Given the description of an element on the screen output the (x, y) to click on. 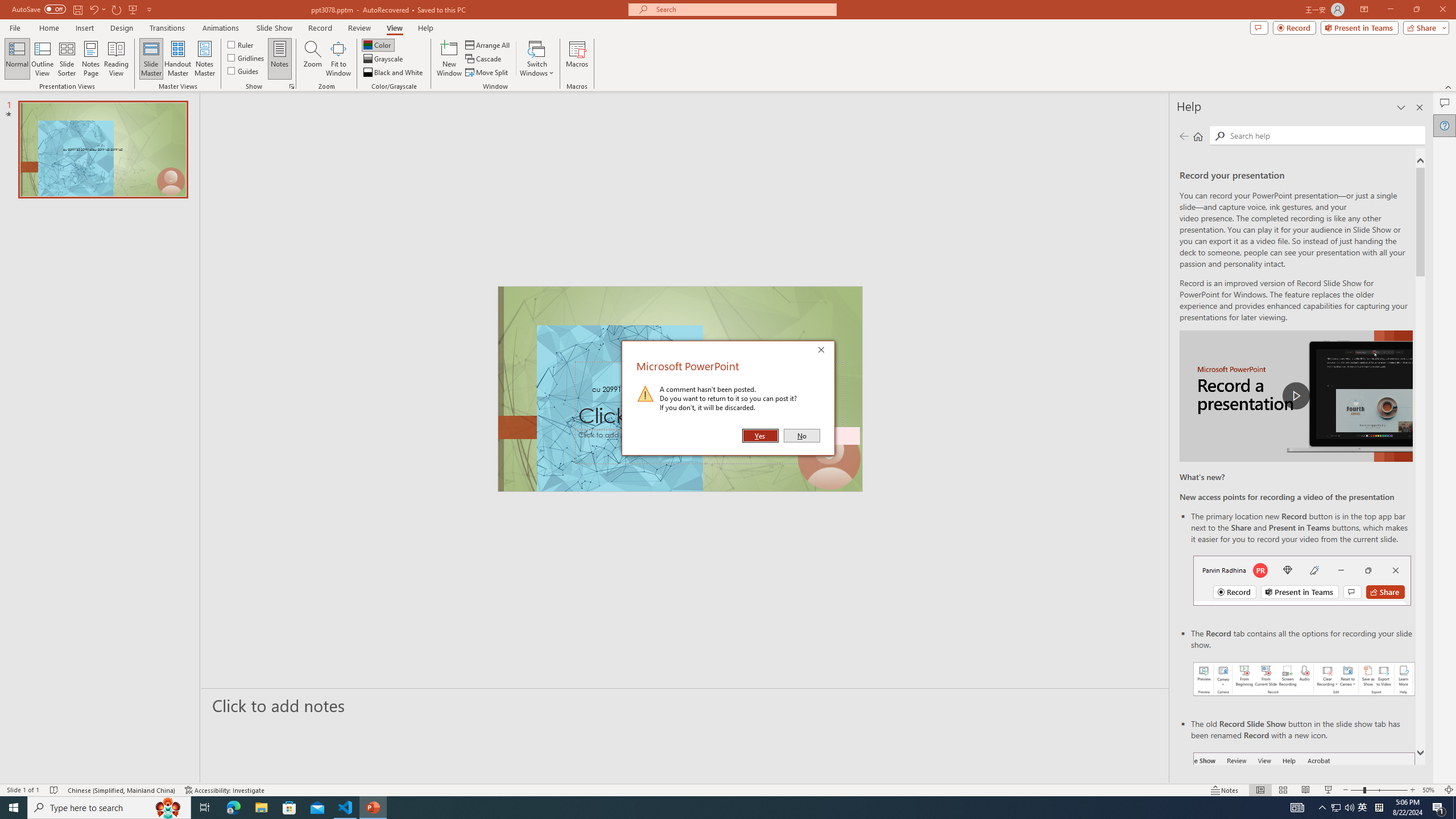
Q2790: 100% (1349, 807)
File Tab (15, 27)
Animations (220, 28)
Arrange All (488, 44)
View (395, 28)
Slide Notes (685, 705)
Tray Input Indicator - Chinese (Simplified, China) (1378, 807)
From Beginning (133, 9)
Zoom (1379, 790)
Ribbon Display Options (1364, 9)
